Given the description of an element on the screen output the (x, y) to click on. 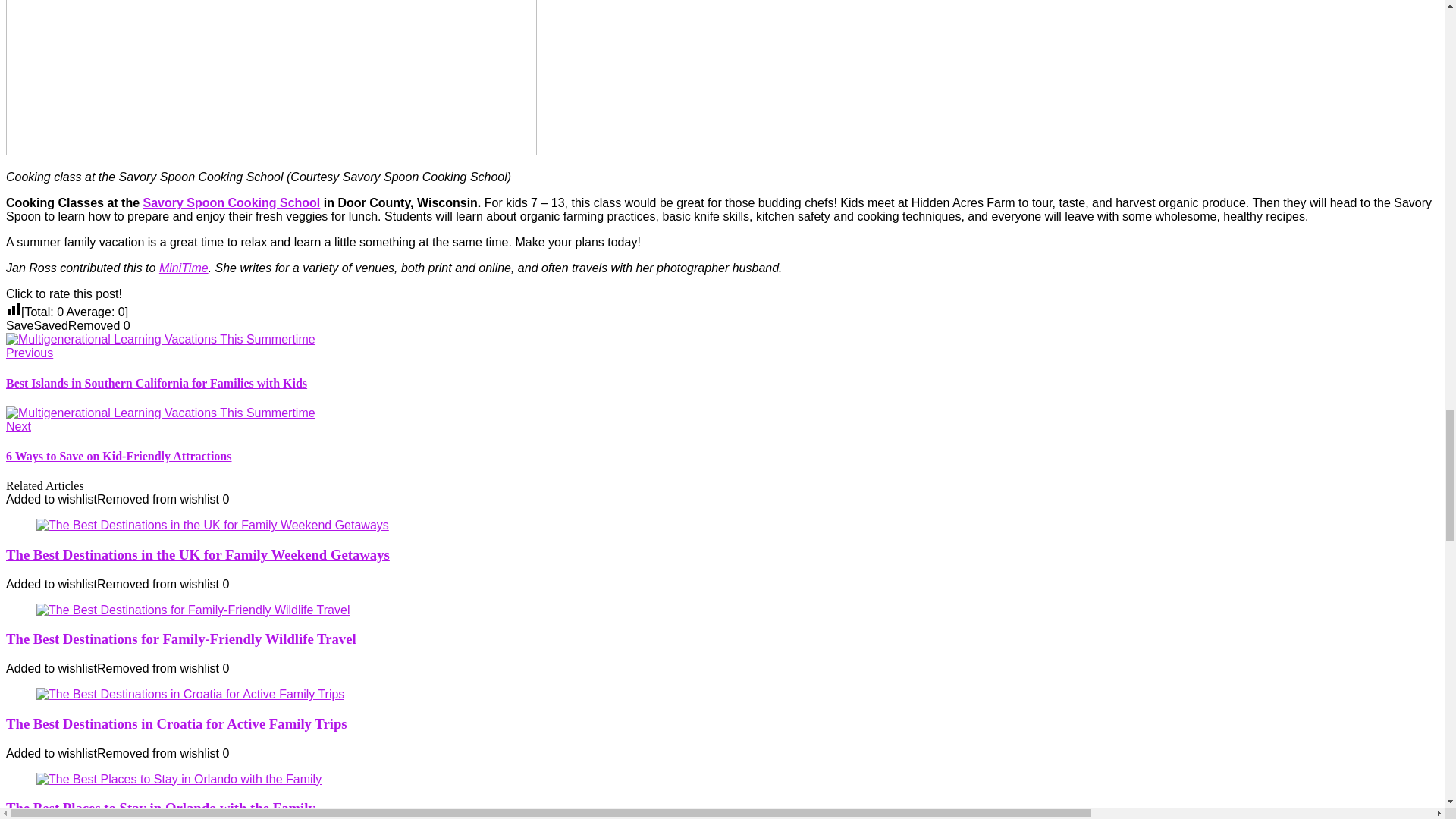
MiniTime (183, 267)
The Best Destinations in the UK for Family Weekend Getaways (721, 434)
The Best Destinations for Family-Friendly Wildlife Travel (197, 554)
The Best Destinations in Croatia for Active Family Trips (180, 638)
Savory Spoon Cooking School (176, 723)
The Best Places to Stay in Orlando with the Family (231, 202)
